Given the description of an element on the screen output the (x, y) to click on. 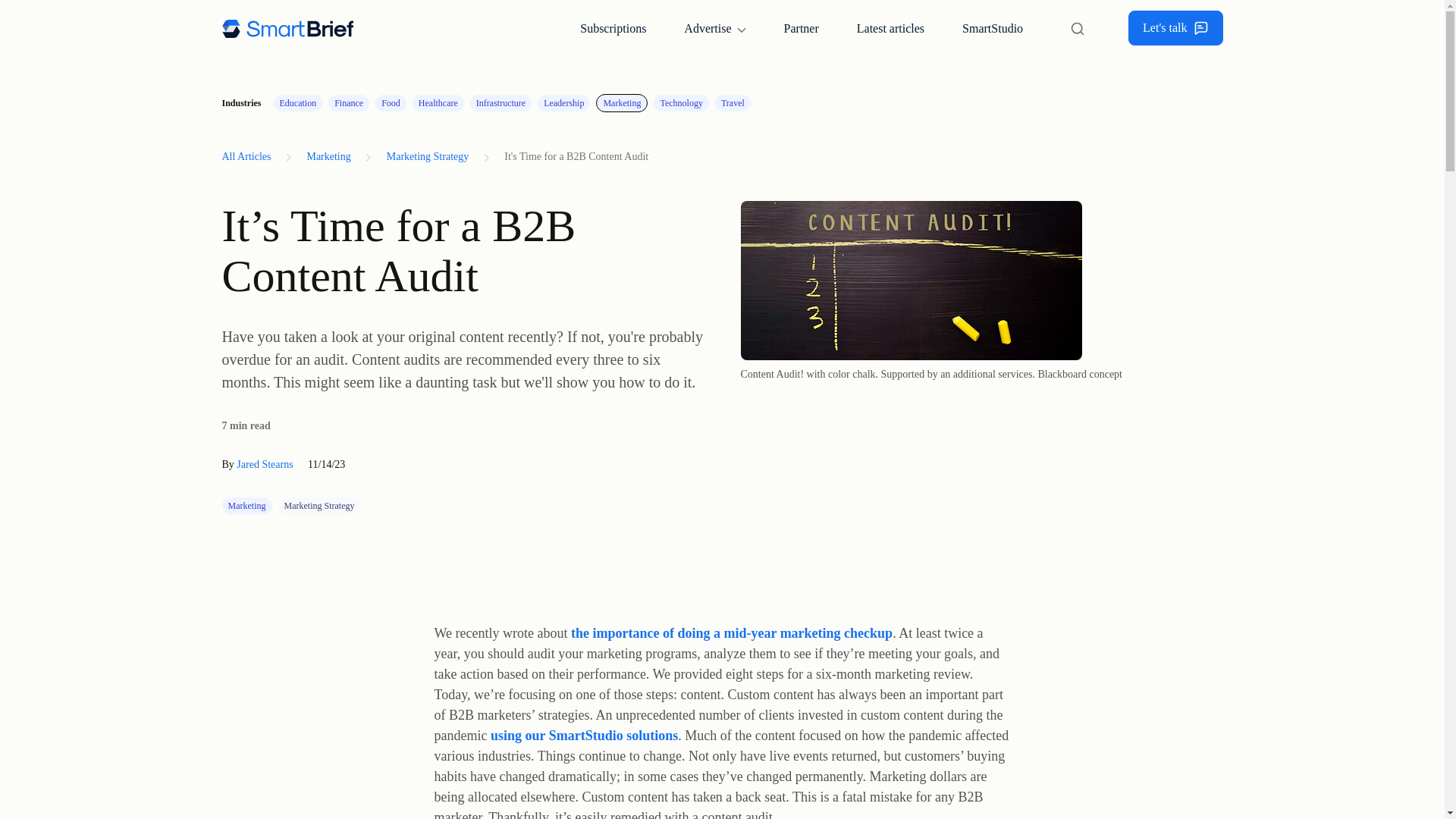
Finance (349, 103)
Education (298, 103)
using our SmartStudio solutions (584, 735)
Food (390, 103)
Marketing (621, 103)
Infrastructure (500, 103)
Partner (801, 28)
Marketing Strategy (427, 156)
the importance of doing a mid-year marketing checkup (731, 632)
Jared Stearns (263, 464)
